Given the description of an element on the screen output the (x, y) to click on. 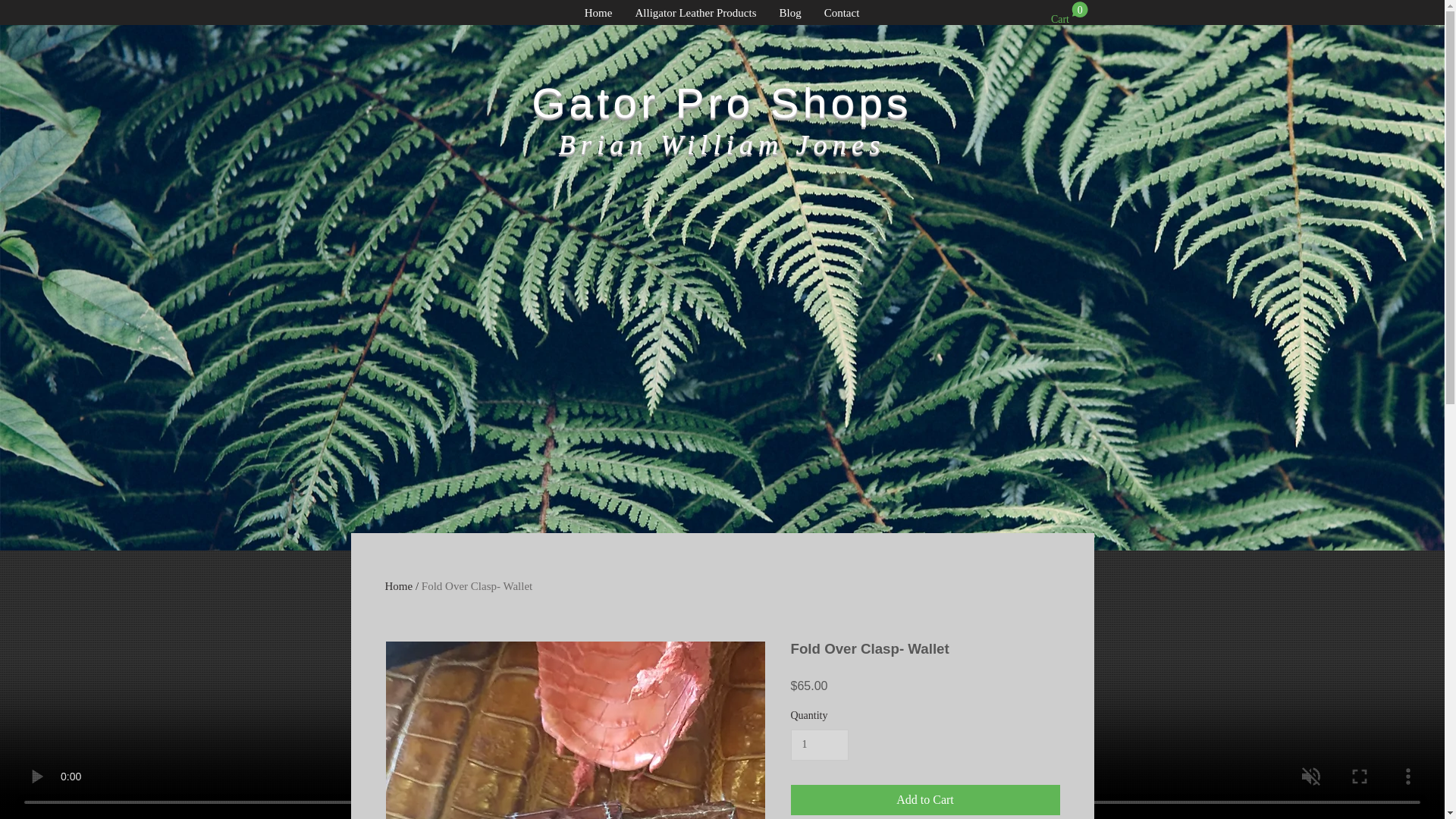
Brian William Jones (722, 144)
Blog (789, 13)
Gator Pro Shops (721, 102)
1 (818, 744)
Alligator Leather Products (695, 13)
Home (598, 13)
Contact (841, 13)
Fold Over Clasp- Wallet (1069, 13)
Add to Cart (477, 585)
Home (1069, 13)
